Given the description of an element on the screen output the (x, y) to click on. 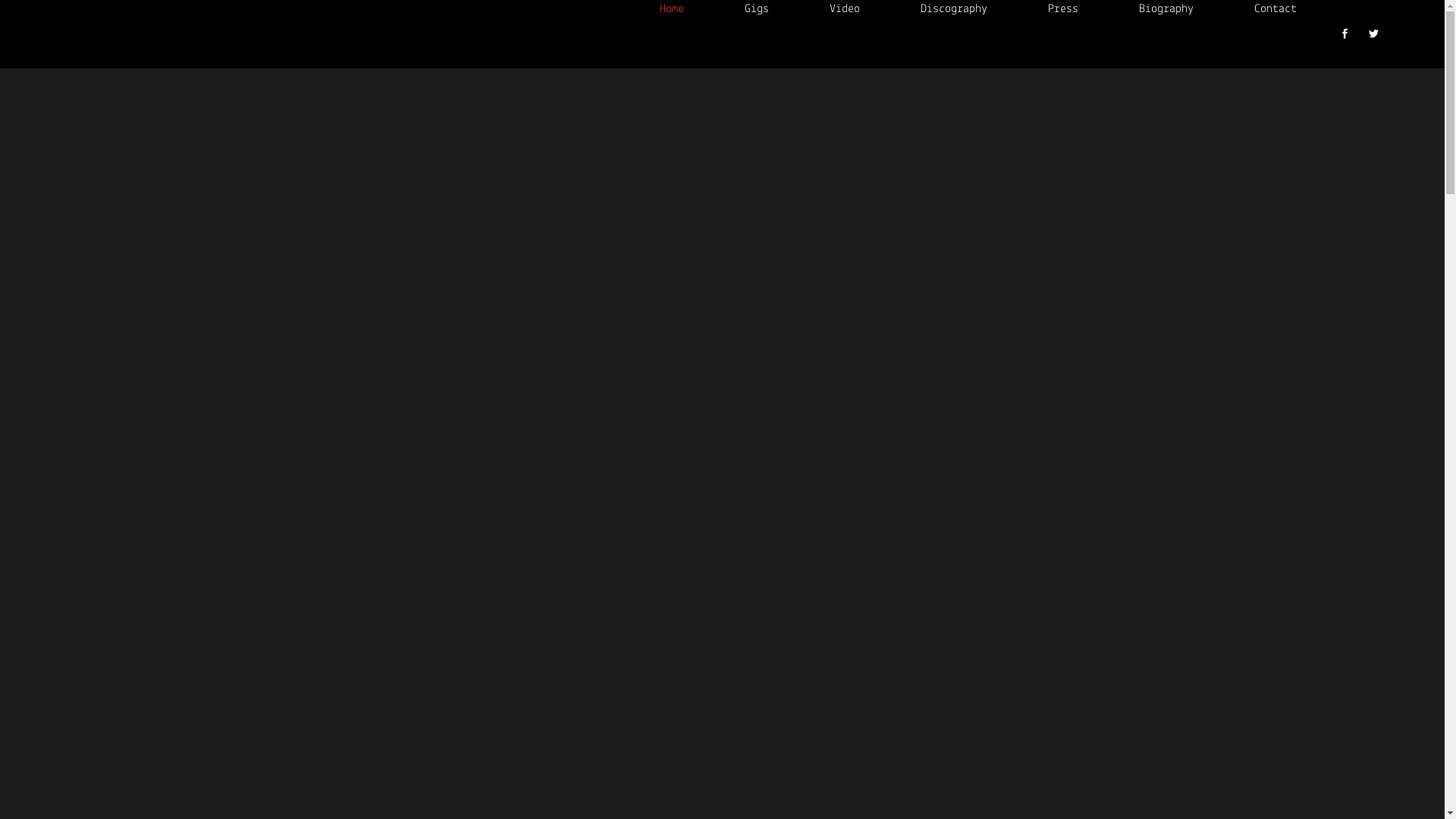
Discography Element type: text (953, 8)
Contact Element type: text (1275, 8)
Video Element type: text (844, 8)
Gigs Element type: text (756, 8)
Biography Element type: text (1165, 8)
Press Element type: text (1062, 8)
Home Element type: text (671, 8)
